Given the description of an element on the screen output the (x, y) to click on. 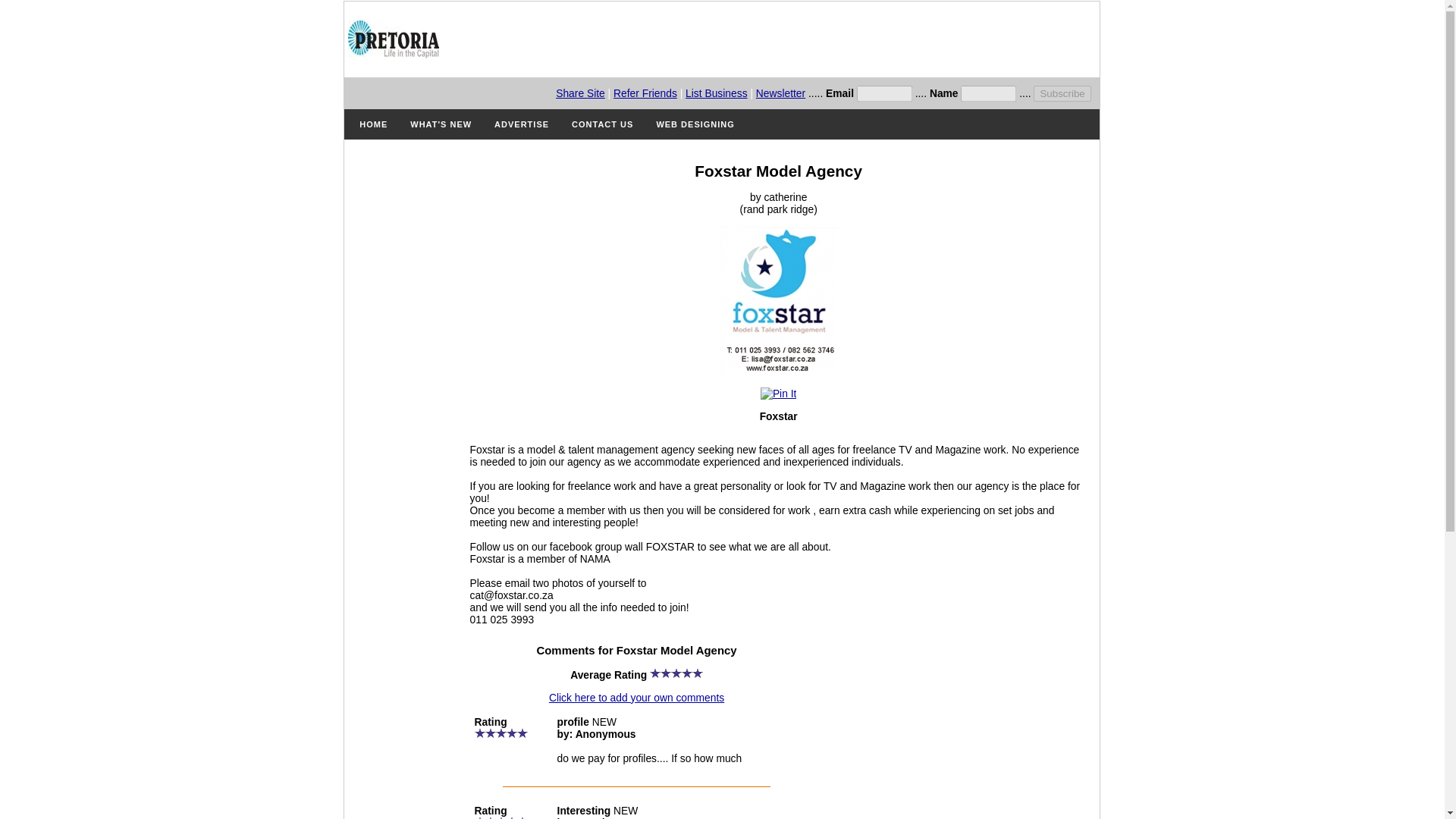
List Business (715, 92)
ADVERTISE (521, 124)
WEB DESIGNING (695, 124)
CONTACT US (602, 124)
Pin It (778, 393)
Click here to add your own comments (635, 697)
Subscribe (1061, 93)
Refer Friends (644, 92)
HOME (372, 124)
Share Site (580, 92)
